Given the description of an element on the screen output the (x, y) to click on. 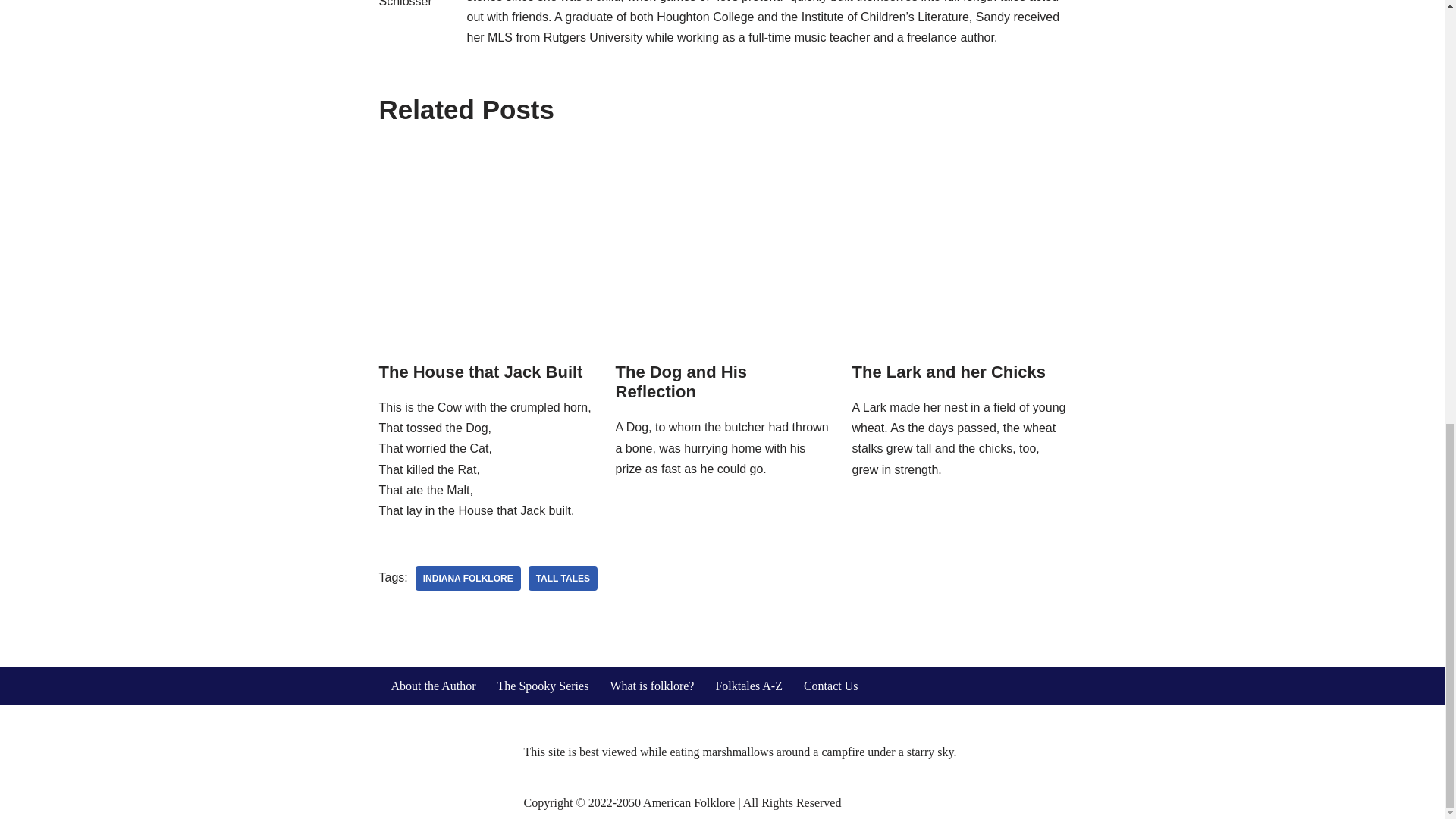
Indiana folklore (467, 578)
Tall Tales (562, 578)
